Given the description of an element on the screen output the (x, y) to click on. 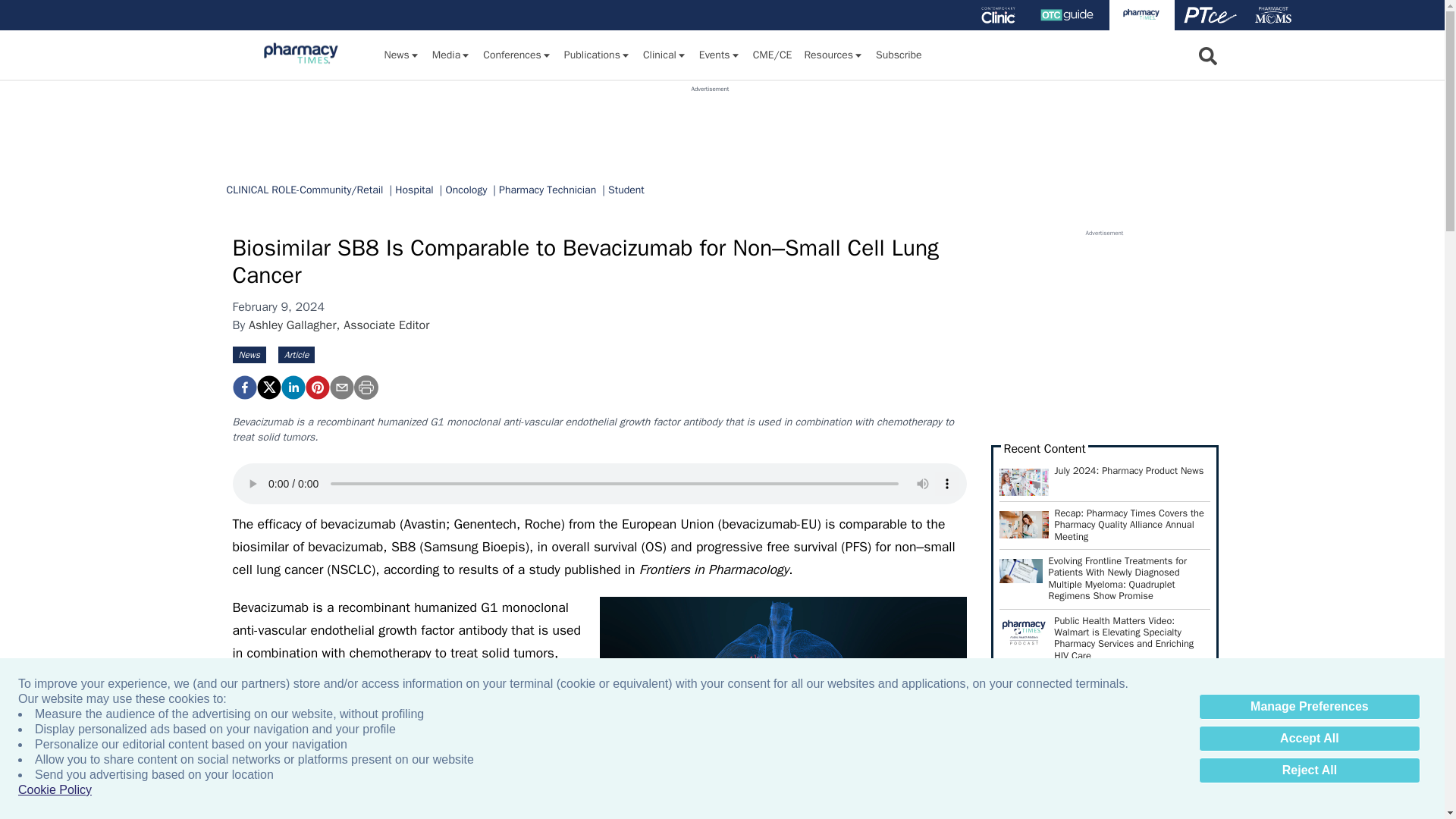
Reject All (1309, 769)
3rd party ad content (709, 127)
Manage Preferences (1309, 706)
Accept All (1309, 738)
Cookie Policy (54, 789)
